Given the description of an element on the screen output the (x, y) to click on. 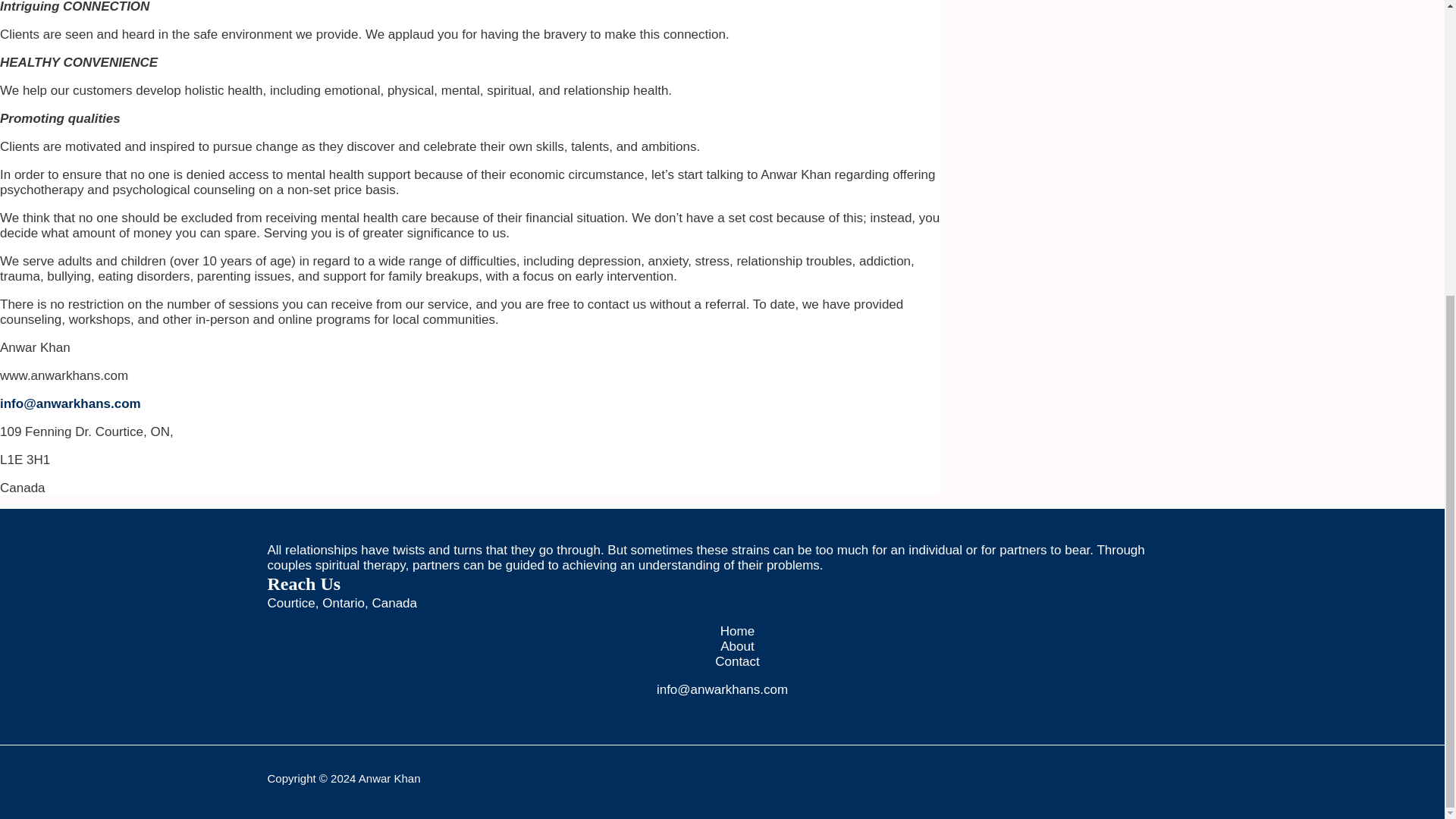
About (737, 646)
Contact (737, 661)
Home (737, 631)
